Given the description of an element on the screen output the (x, y) to click on. 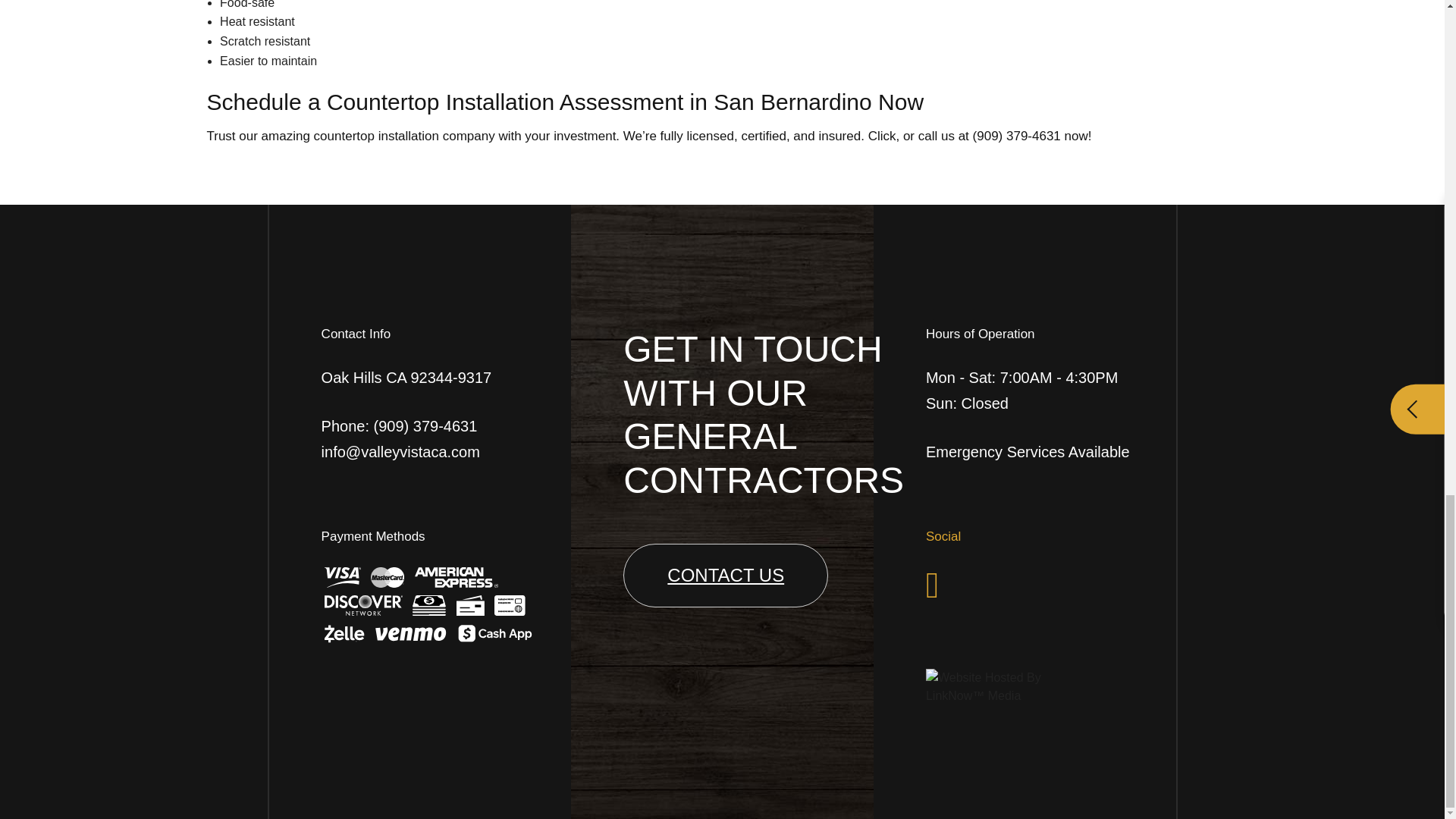
Send us a message (725, 575)
